Given the description of an element on the screen output the (x, y) to click on. 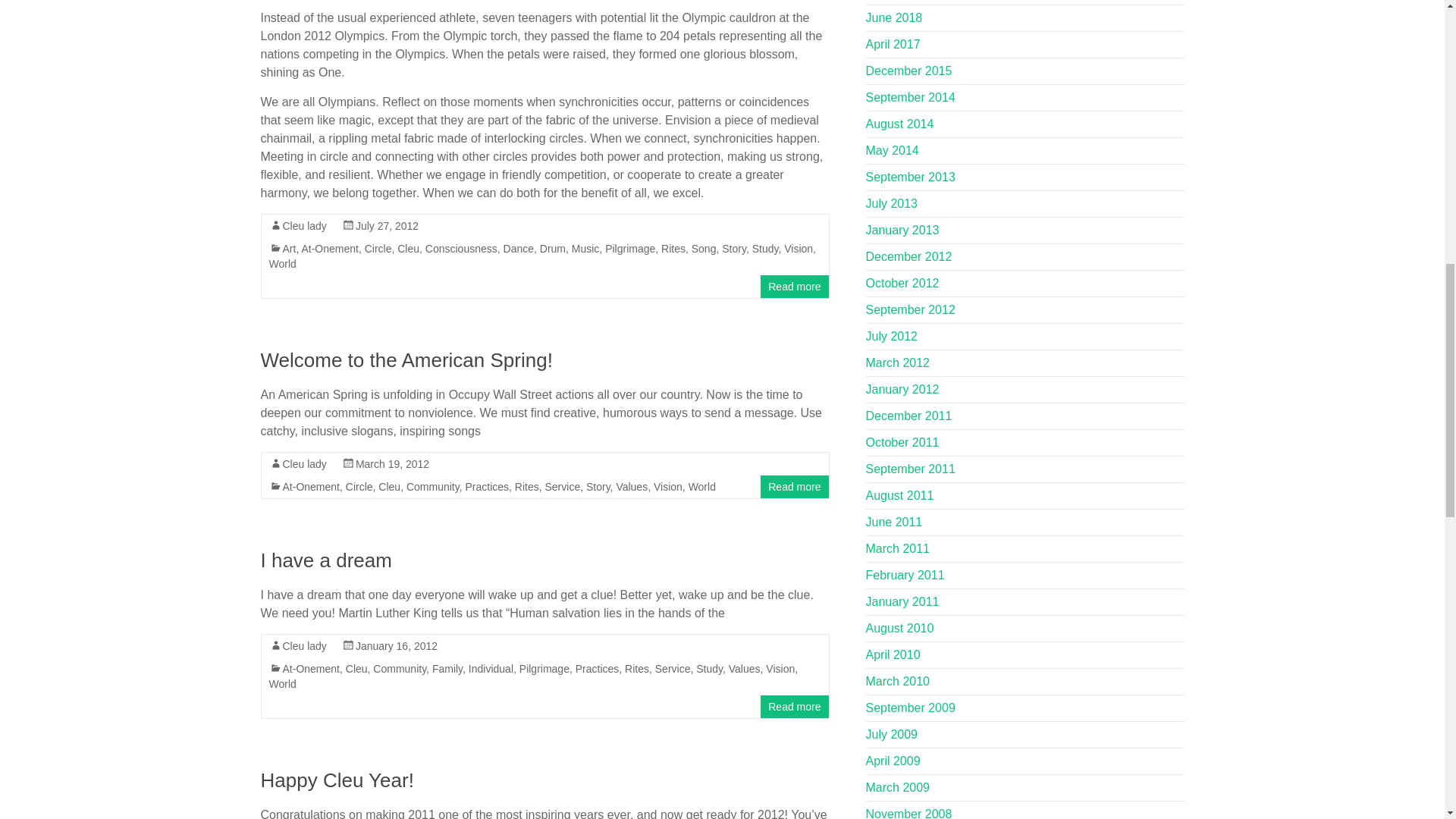
11:58 am (392, 463)
Happy Cleu Year! (336, 780)
8:11 pm (387, 225)
9:39 pm (396, 645)
Welcome to the American Spring! (406, 359)
I have a dream (325, 559)
Cleu lady (304, 225)
